Given the description of an element on the screen output the (x, y) to click on. 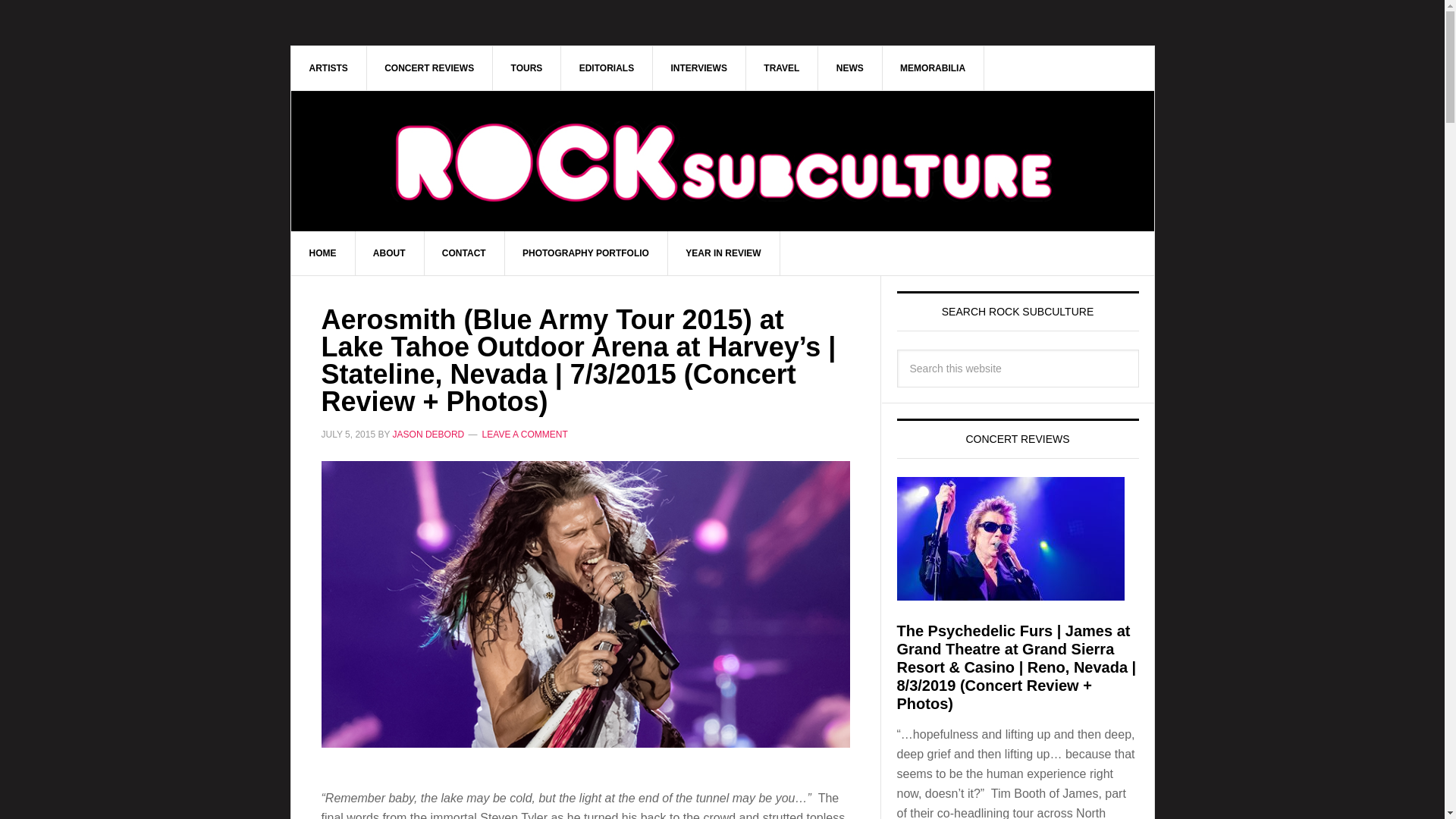
INTERVIEWS (698, 67)
CONTACT (464, 252)
NEWS (850, 67)
ABOUT (390, 252)
PHOTOGRAPHY PORTFOLIO (585, 252)
Jason DeBord's Rock Subculture Journal (722, 161)
LEAVE A COMMENT (524, 434)
CONCERT REVIEWS (429, 67)
TOURS (527, 67)
MEMORABILIA (933, 67)
Jason DeBord's Rock Subculture Journal (722, 138)
YEAR IN REVIEW (722, 252)
ARTISTS (328, 67)
